Given the description of an element on the screen output the (x, y) to click on. 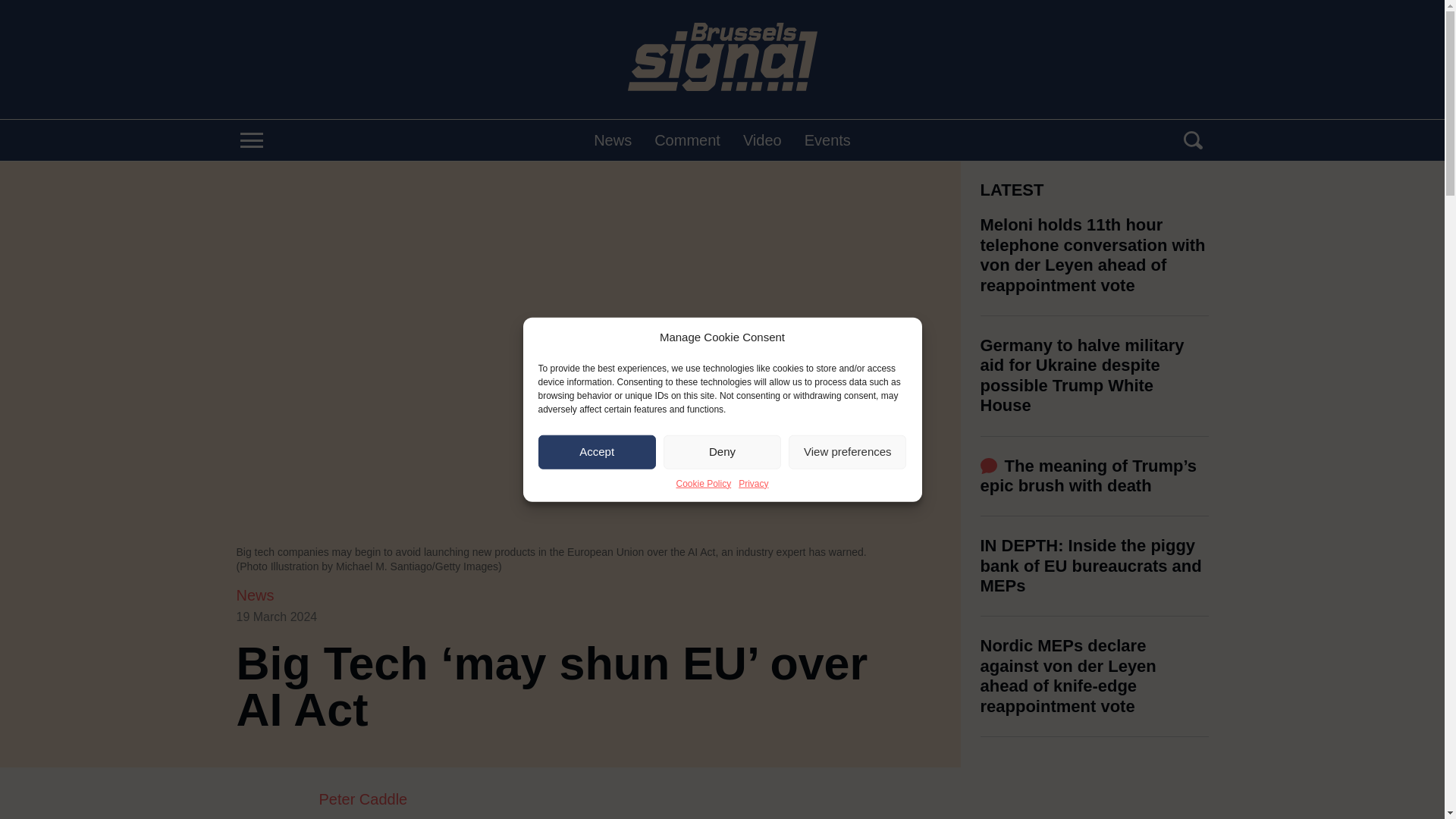
View preferences (847, 451)
Peter Caddle (597, 799)
Cookie Policy (702, 482)
Privacy (753, 482)
Accept (597, 451)
Comment (686, 140)
Events (827, 140)
Deny (721, 451)
Video (761, 140)
News (255, 595)
News (612, 140)
